Given the description of an element on the screen output the (x, y) to click on. 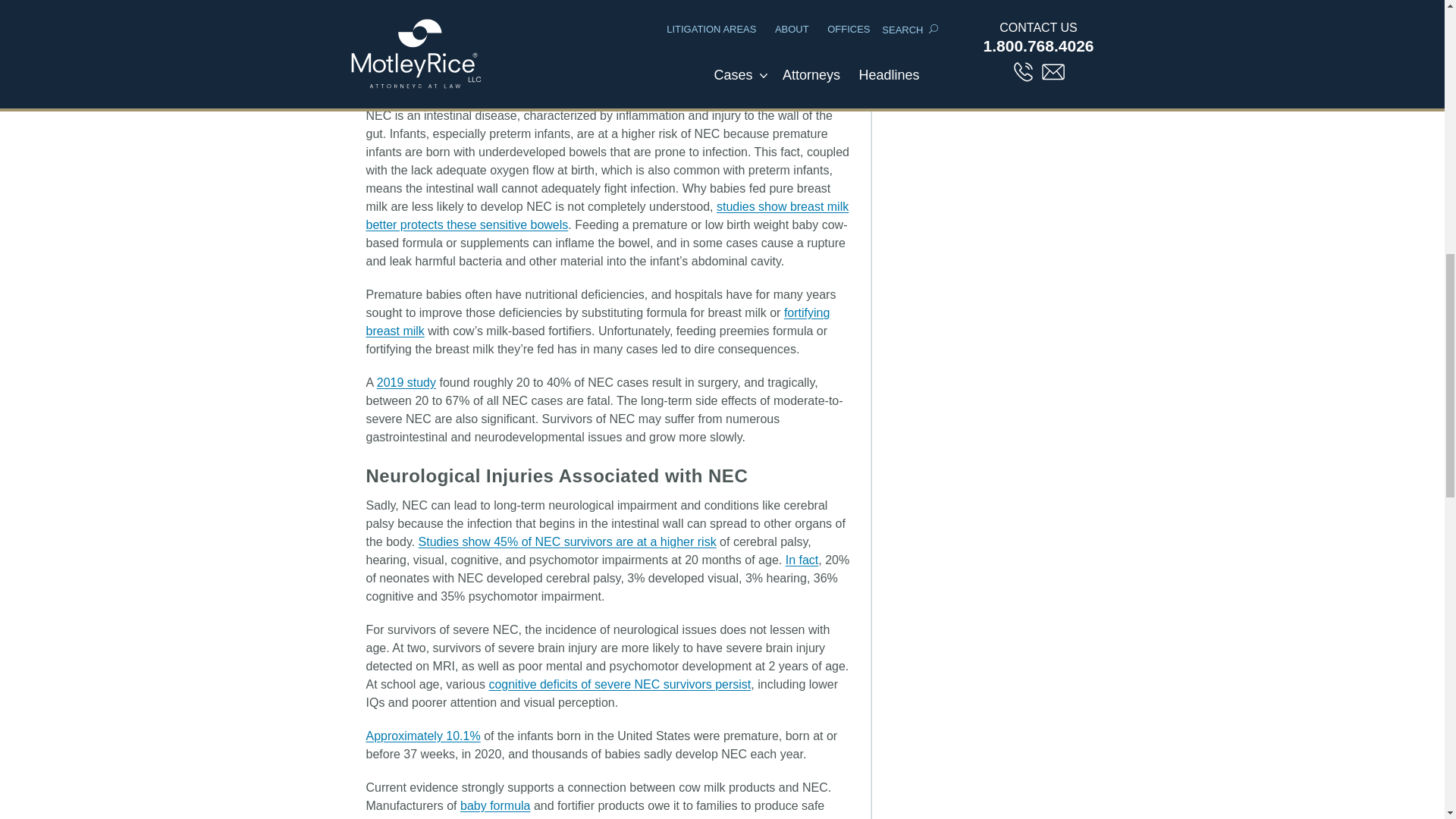
cognitive deficits of severe NEC survivors persist (619, 684)
fortifying breast milk (597, 321)
2019 study (406, 382)
In fact (802, 559)
